Given the description of an element on the screen output the (x, y) to click on. 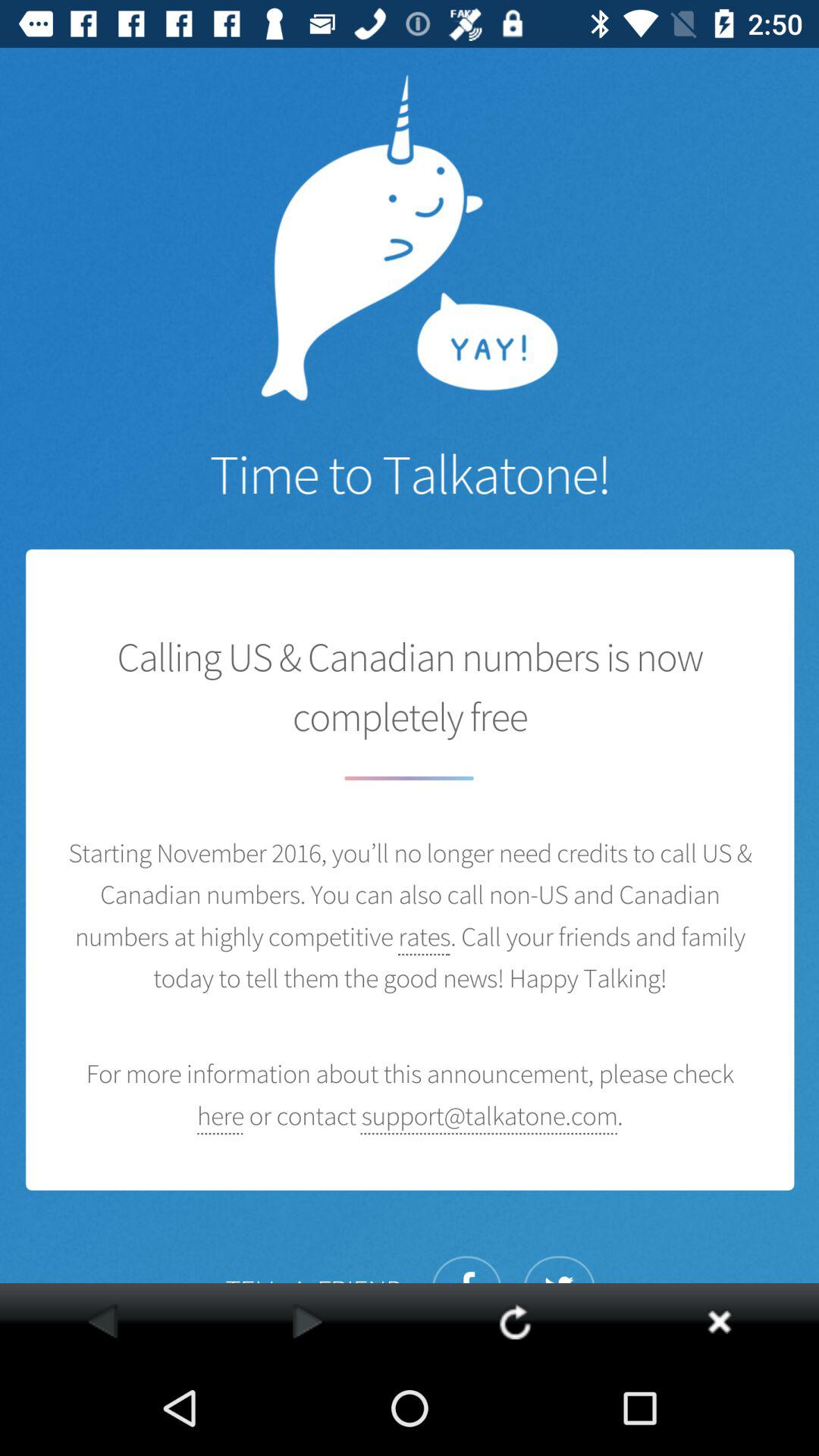
exit from the current page (719, 1321)
